Given the description of an element on the screen output the (x, y) to click on. 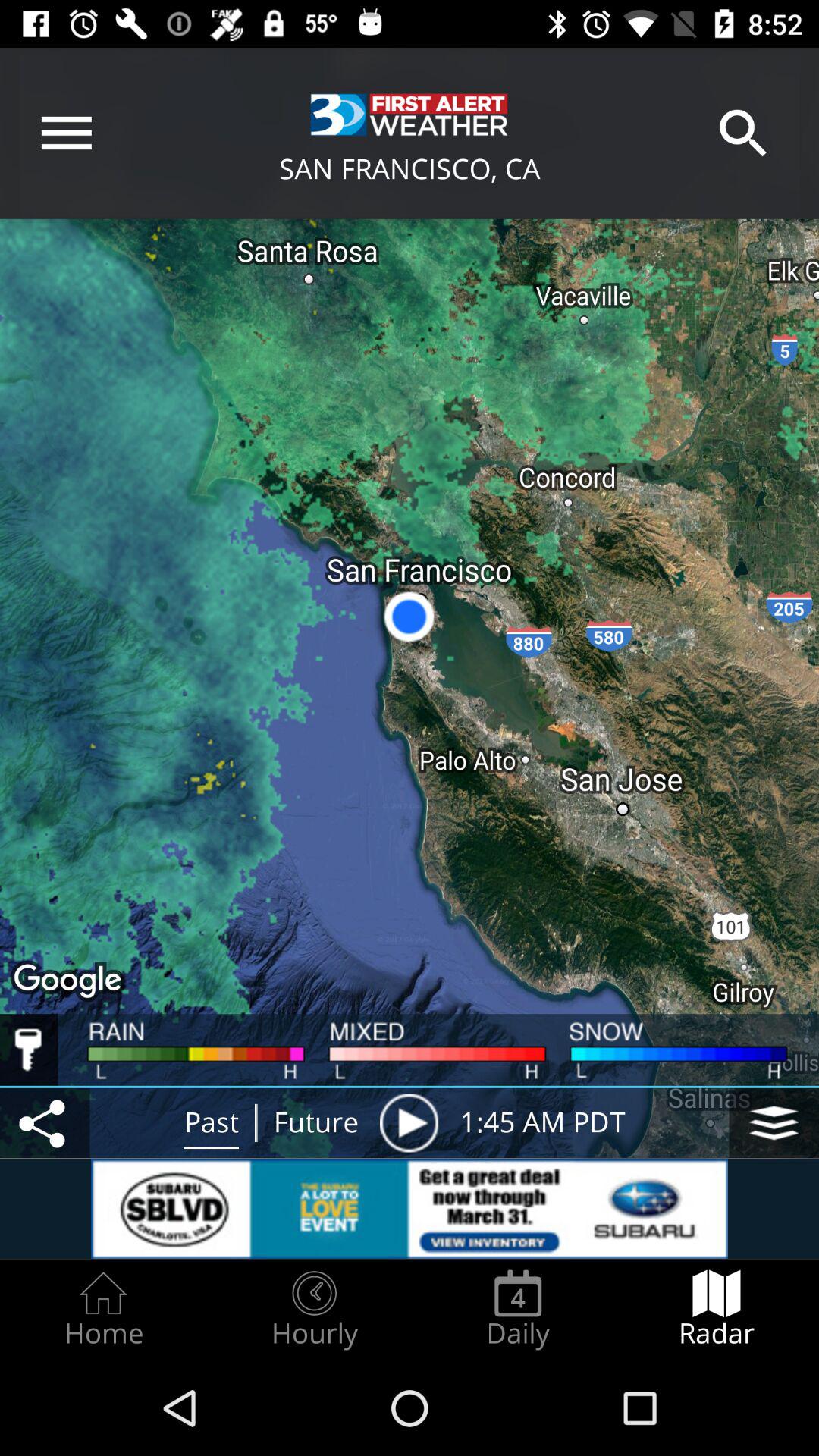
play media (409, 1122)
